Given the description of an element on the screen output the (x, y) to click on. 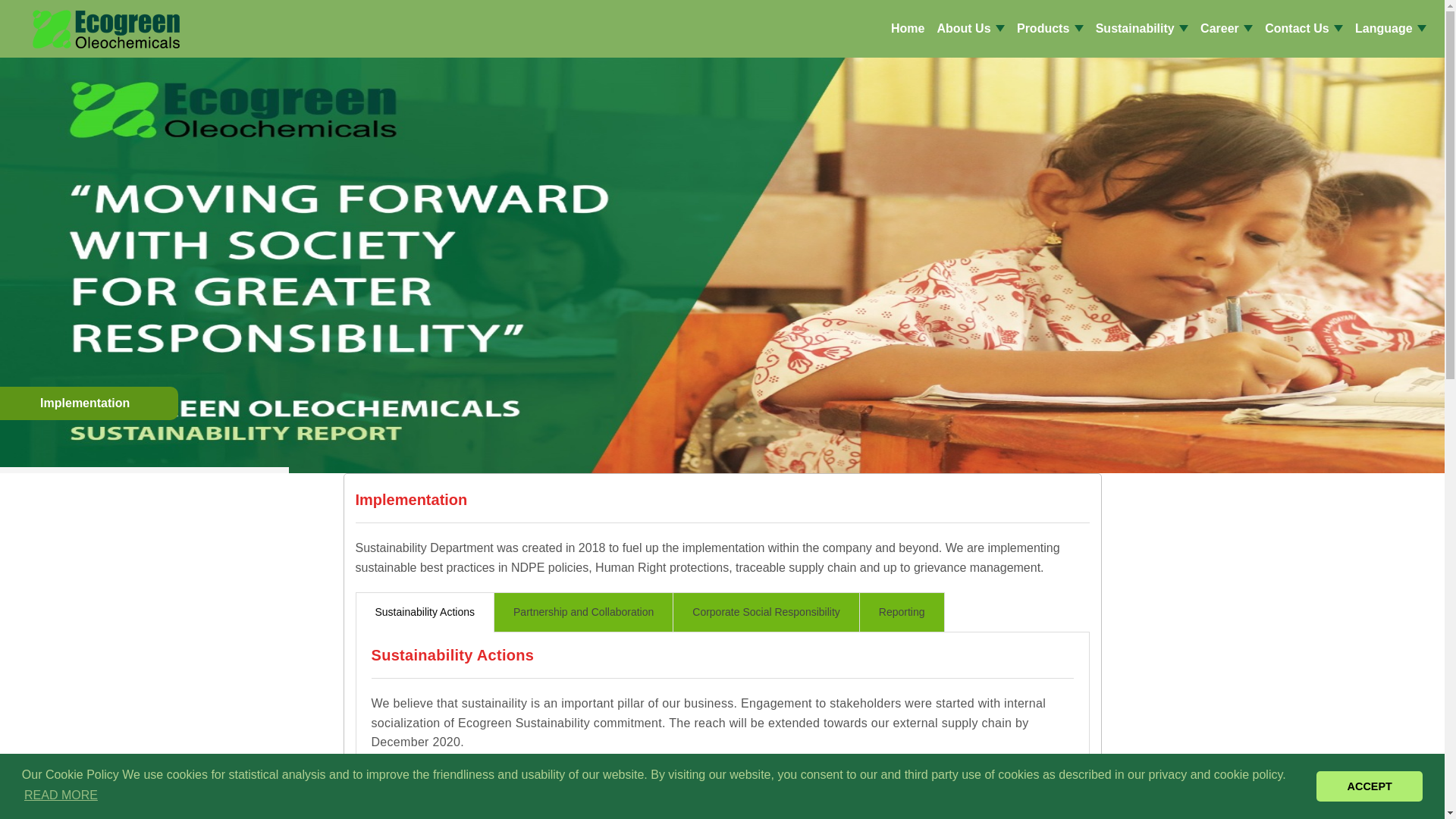
Products (1049, 29)
Career (1226, 29)
Previous (35, 254)
Language (1390, 29)
Home (907, 29)
ACCEPT (1369, 786)
Sustainability (1141, 29)
Contact Us (1304, 29)
READ MORE (60, 794)
About Us (970, 29)
